Given the description of an element on the screen output the (x, y) to click on. 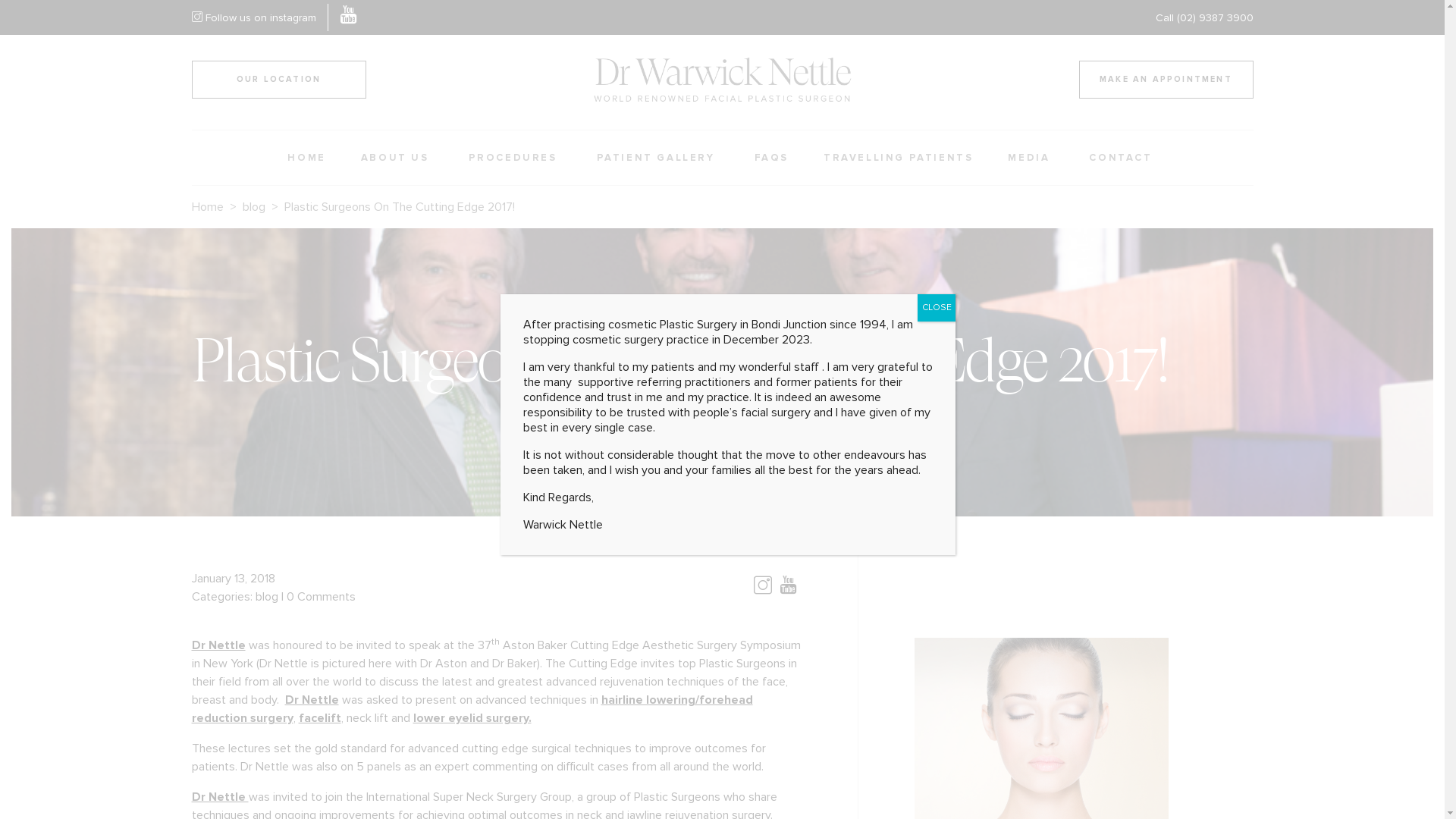
ABOUT US Element type: text (397, 157)
Home Element type: text (206, 206)
facelift Element type: text (319, 717)
blog Element type: text (253, 206)
hairline lowering/forehead reduction surgery Element type: text (472, 708)
TRAVELLING PATIENTS Element type: text (898, 157)
CONTACT Element type: text (1122, 157)
Dr Nettle Element type: text (311, 699)
FAQS Element type: text (771, 157)
lower eyelid surgery. Element type: text (472, 717)
PATIENT GALLERY Element type: text (658, 157)
PROCEDURES Element type: text (515, 157)
OUR LOCATION Element type: text (278, 79)
0 Comments Element type: text (320, 596)
Dr Nettle Element type: text (218, 644)
blog Element type: text (266, 596)
MEDIA Element type: text (1030, 157)
Call (02) 9387 3900 Element type: text (1204, 16)
HOME Element type: text (305, 157)
Dr Nettle Element type: text (219, 796)
MAKE AN APPOINTMENT Element type: text (1165, 79)
CLOSE Element type: text (936, 307)
Follow us on instagram Element type: text (253, 17)
